Given the description of an element on the screen output the (x, y) to click on. 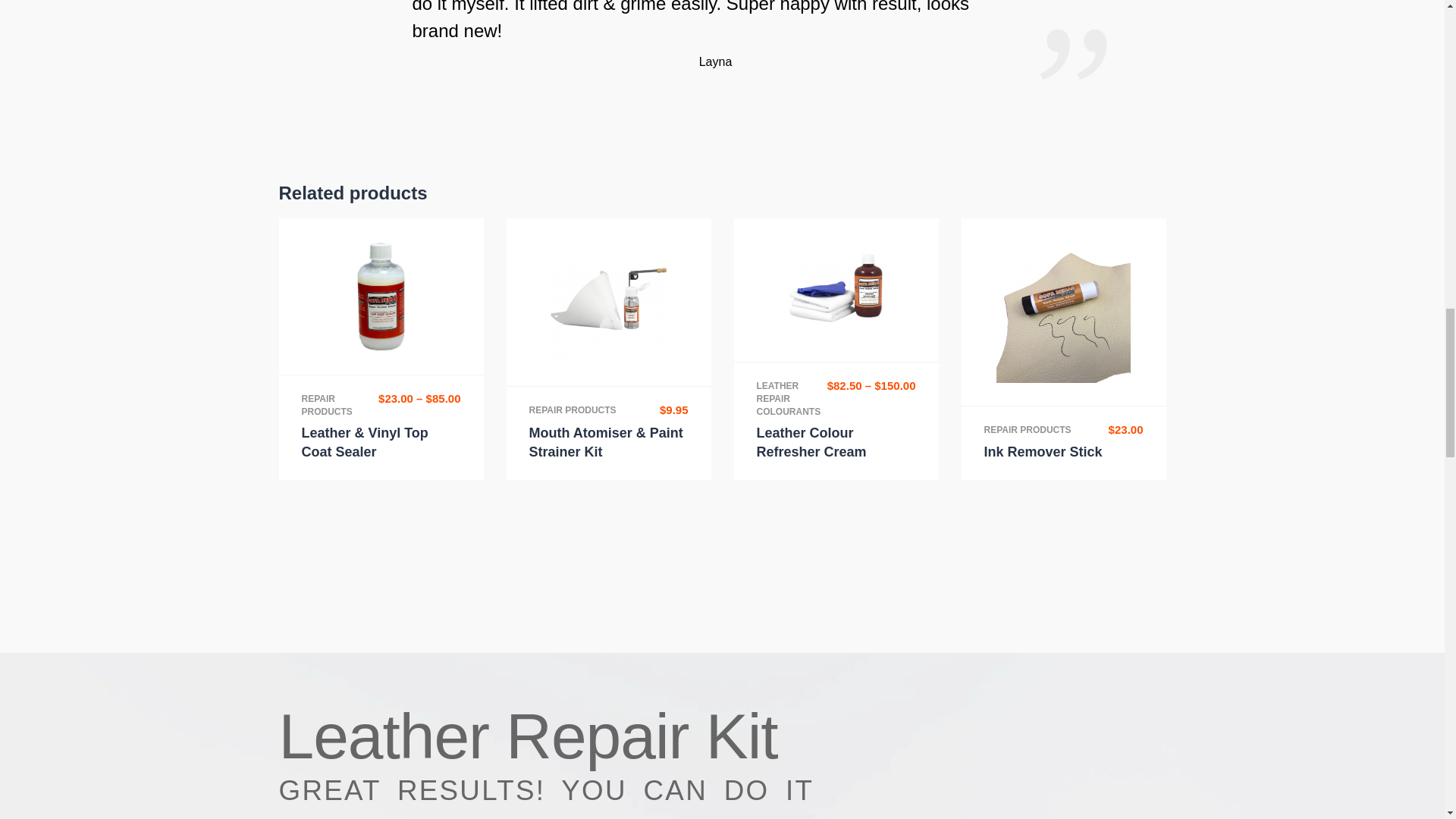
REPAIR PRODUCTS (326, 405)
